Given the description of an element on the screen output the (x, y) to click on. 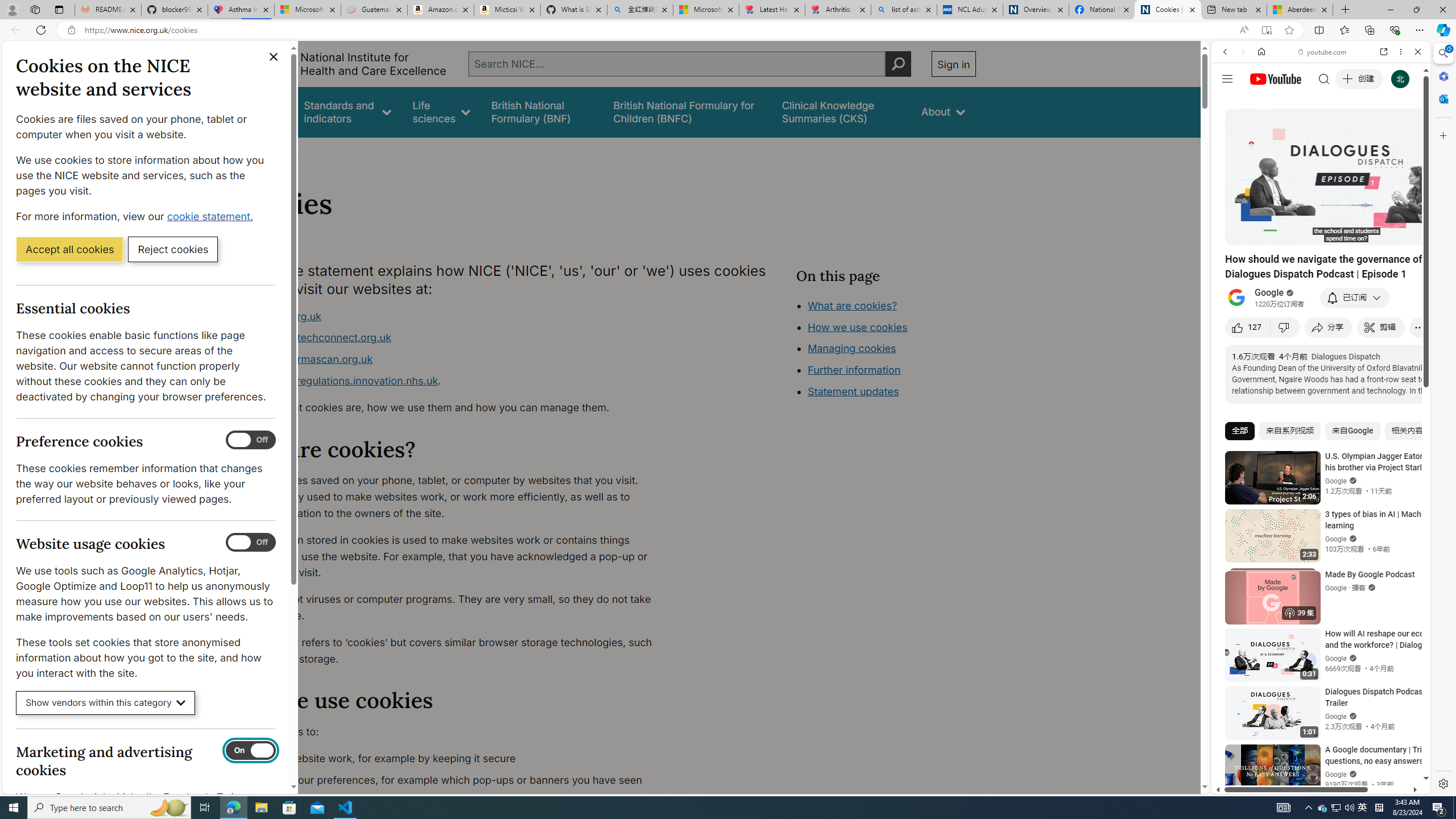
list of asthma inhalers uk - Search (904, 9)
Trailer #2 [HD] (1320, 337)
www.nice.org.uk (452, 316)
NCL Adult Asthma Inhaler Choice Guideline (969, 9)
www.healthtechconnect.org.uk (314, 337)
